Given the description of an element on the screen output the (x, y) to click on. 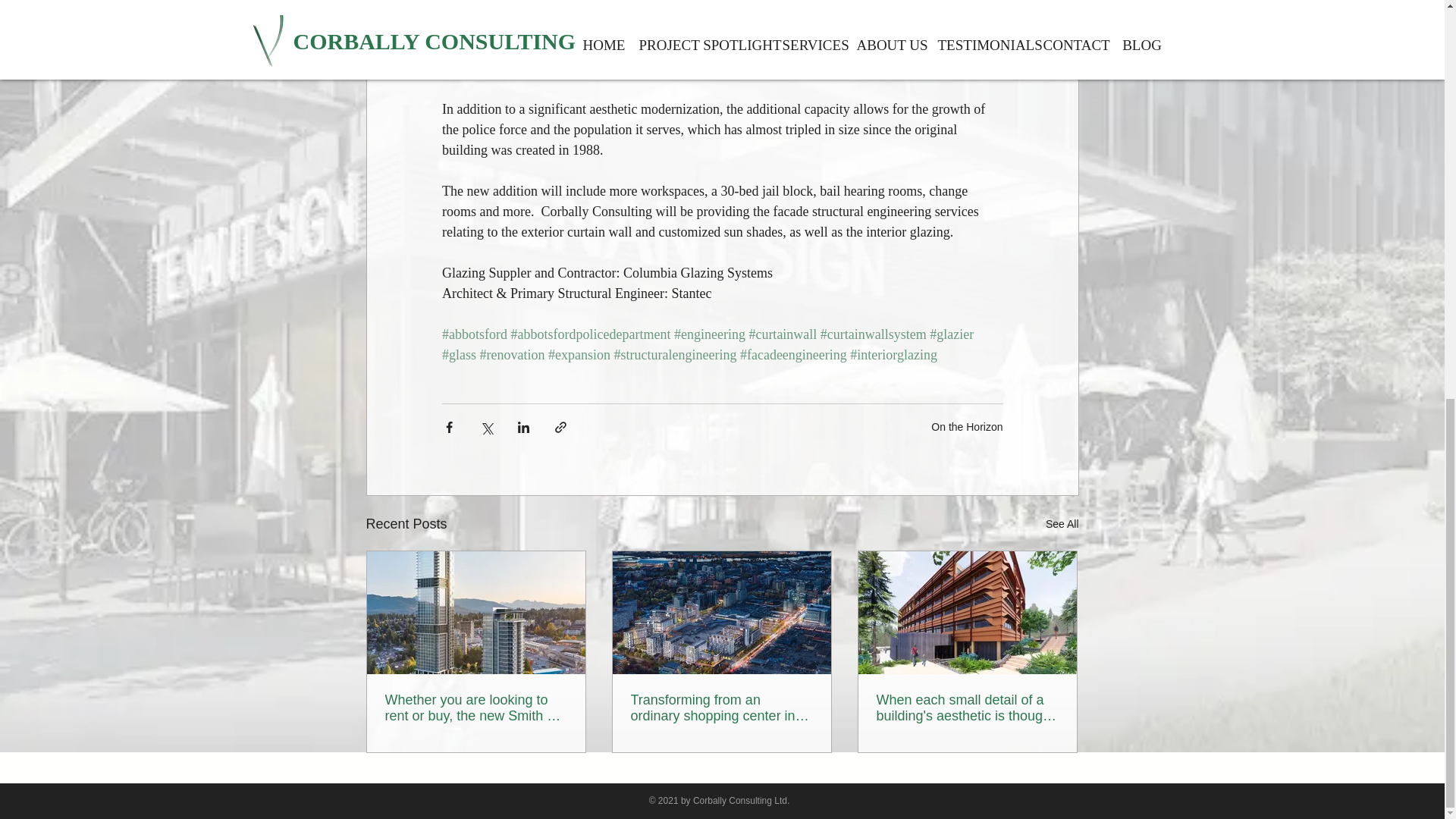
See All (1061, 524)
On the Horizon (967, 426)
